Given the description of an element on the screen output the (x, y) to click on. 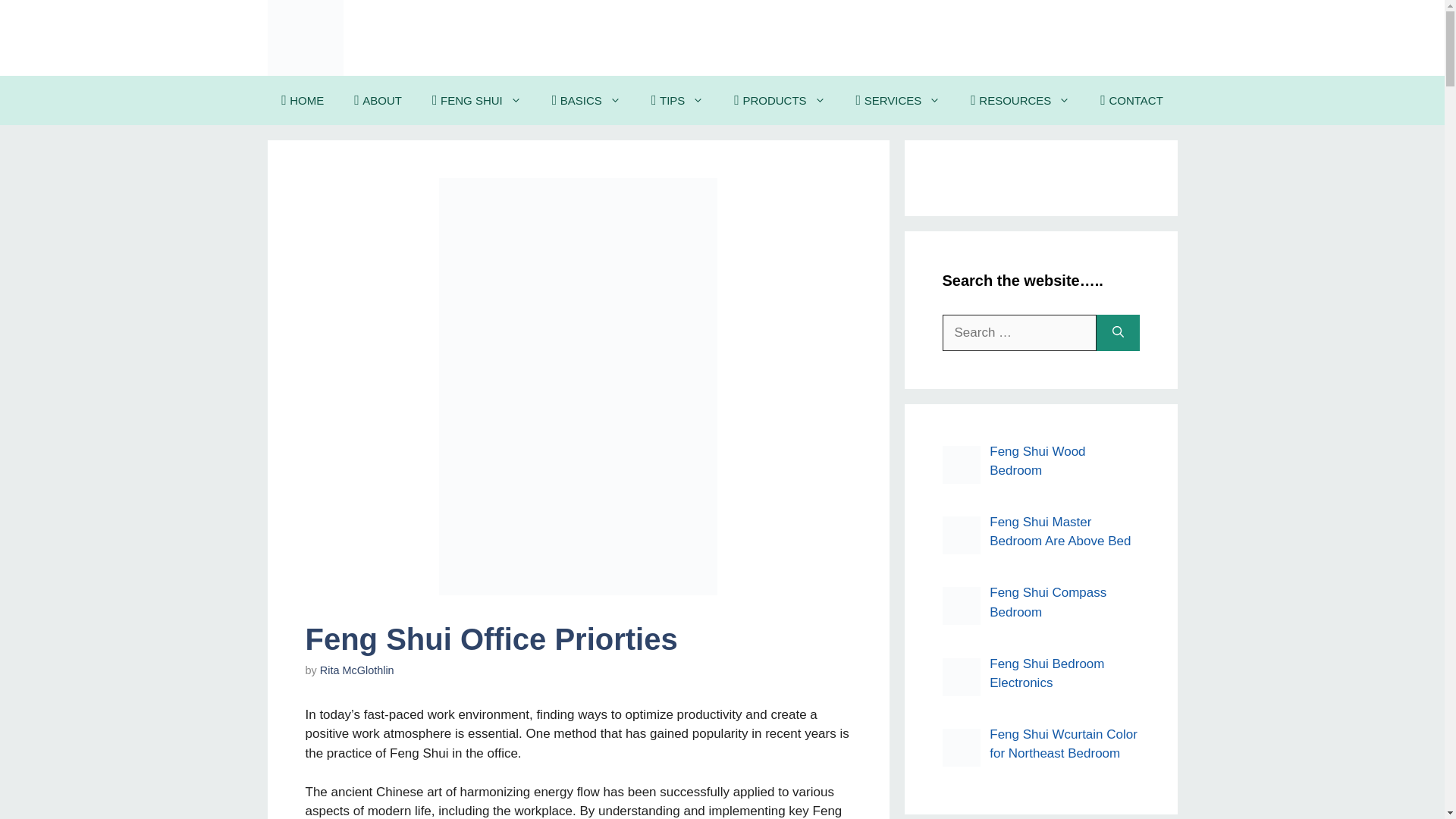
View all posts by Rita McGlothlin (357, 670)
Feng Shui Office Priorties 1 (578, 386)
